Given the description of an element on the screen output the (x, y) to click on. 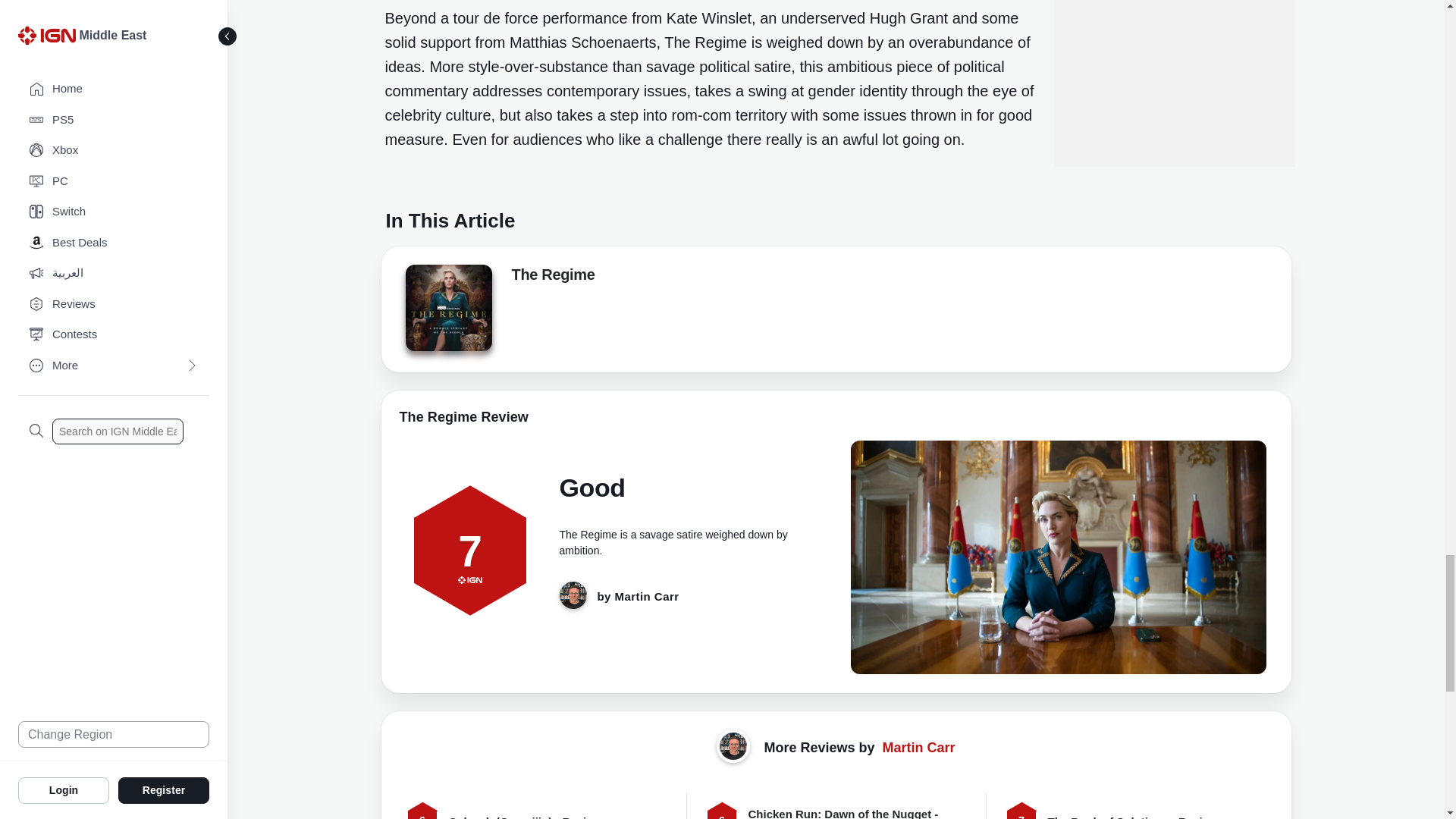
The Regime (448, 307)
The Regime (448, 312)
The Regime (552, 277)
